Given the description of an element on the screen output the (x, y) to click on. 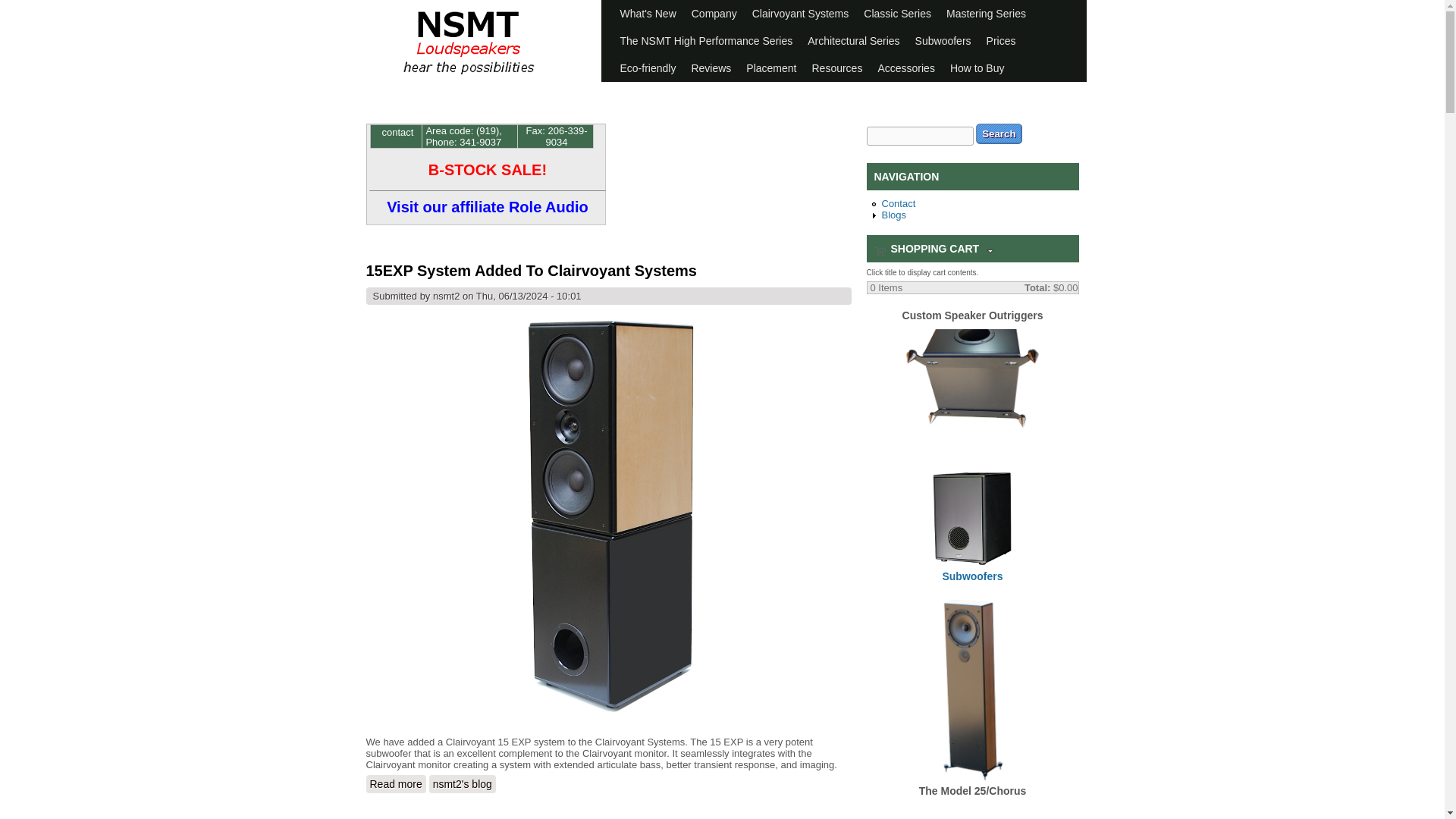
What's new at NSMT Loudspeakers (648, 13)
Loudspeaker reviews (710, 67)
Active bandpass subwoofers (942, 40)
Search (998, 133)
Suggested loudspeaker placements (770, 67)
Amplifiers, stands, hardware (905, 67)
Architectural Series (853, 40)
contact (397, 132)
Accessories (905, 67)
Reviews (710, 67)
Mastering Series (986, 13)
Placement (770, 67)
Prices (1000, 40)
How to Buy (976, 67)
The NSMT High Performance Series (706, 40)
